Given the description of an element on the screen output the (x, y) to click on. 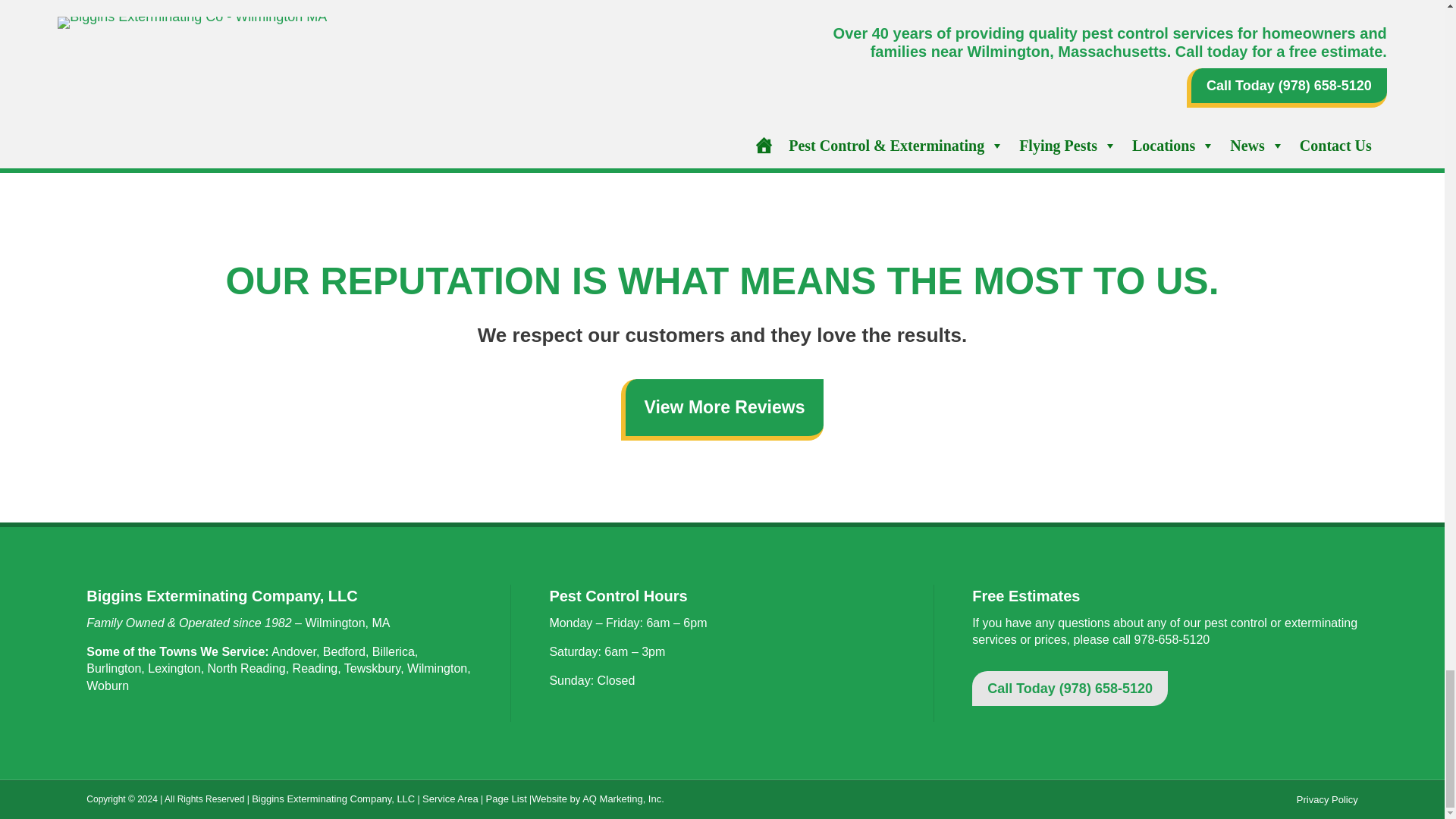
Service Area (450, 798)
Biggins Exterminating Company, LLC (332, 798)
Page List (506, 798)
